Given the description of an element on the screen output the (x, y) to click on. 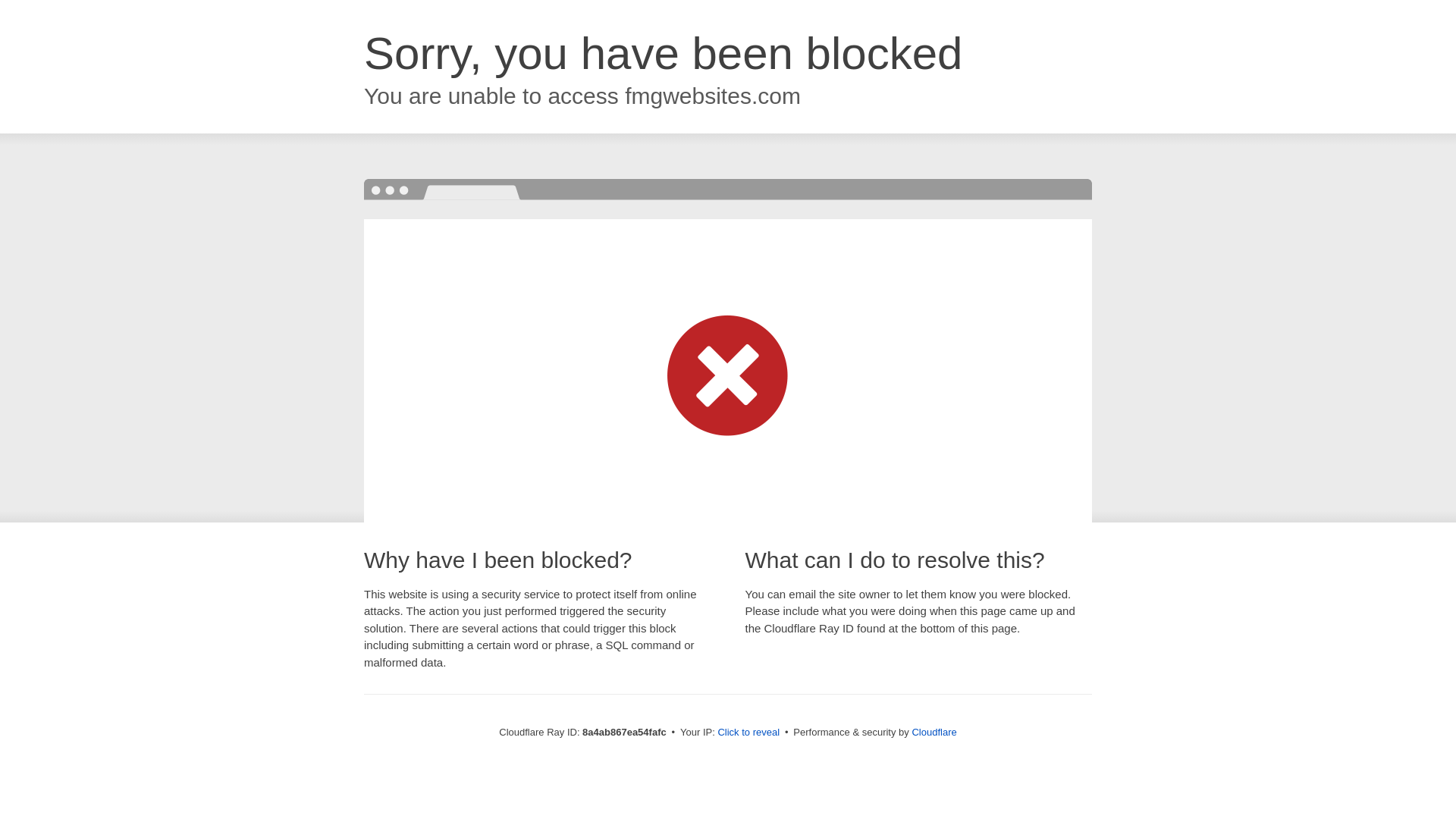
Cloudflare (933, 731)
Click to reveal (747, 732)
